Given the description of an element on the screen output the (x, y) to click on. 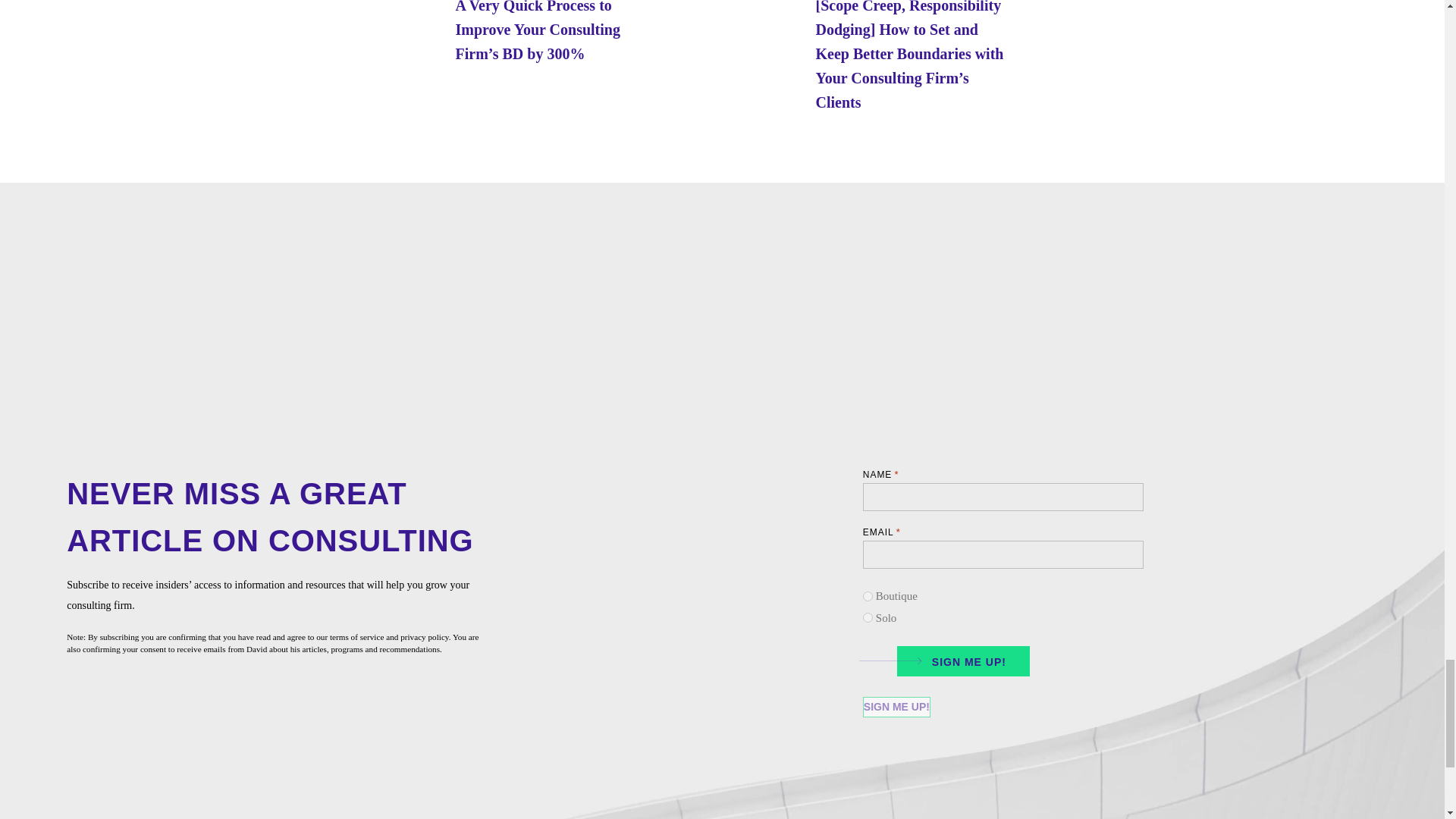
Solo (867, 617)
SIGN ME UP! (957, 659)
Sign Me Up! (896, 706)
Sign Me Up! (896, 706)
Boutique (867, 596)
